Given the description of an element on the screen output the (x, y) to click on. 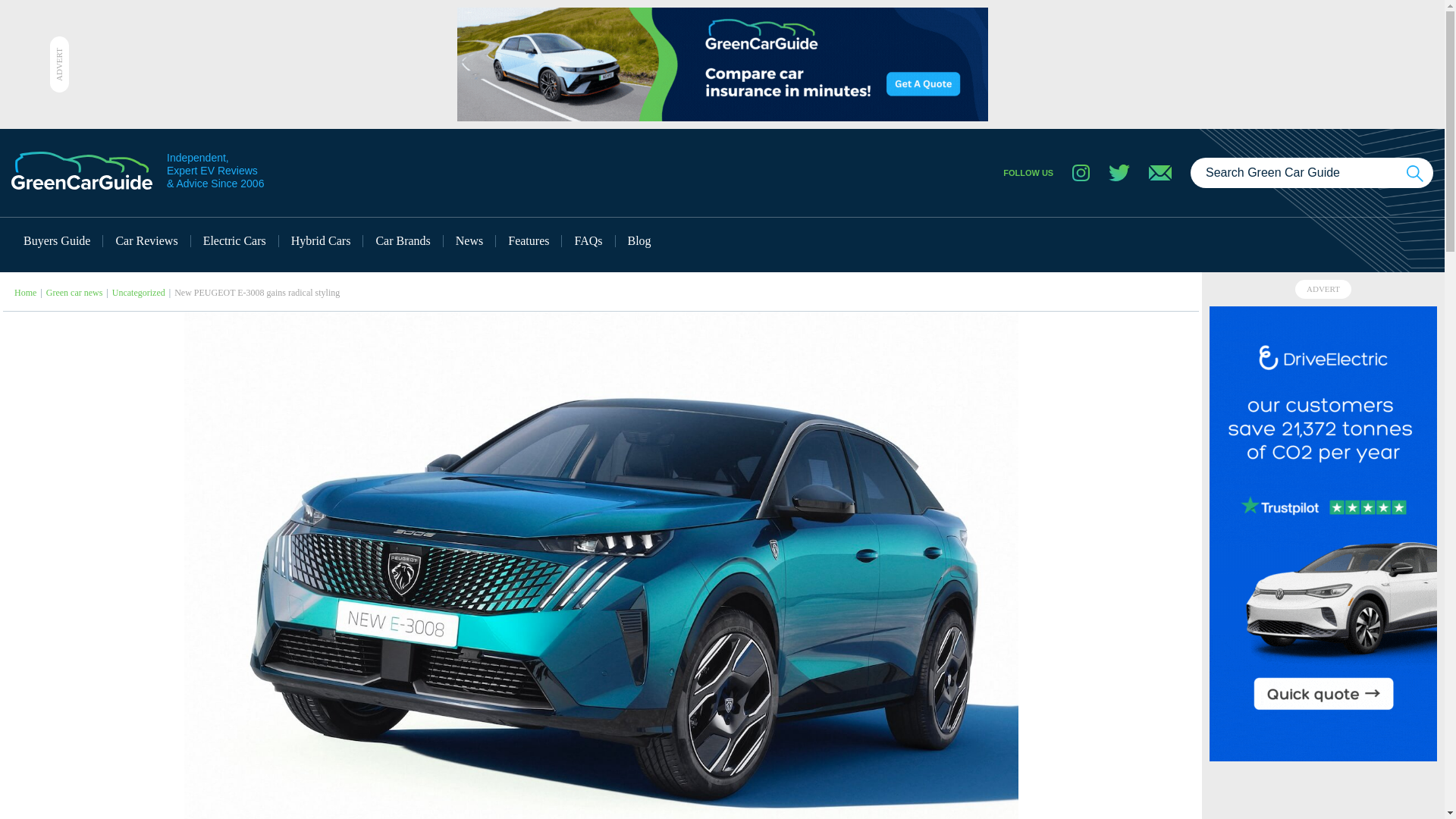
Go to Green car news. (74, 292)
Go to the Uncategorized category archives. (138, 292)
Search (1414, 173)
Buyers Guide (57, 241)
Search (1414, 173)
Electric Cars (234, 241)
Car Reviews (146, 241)
Go to GreenCarGuide.co.uk. (25, 292)
